Given the description of an element on the screen output the (x, y) to click on. 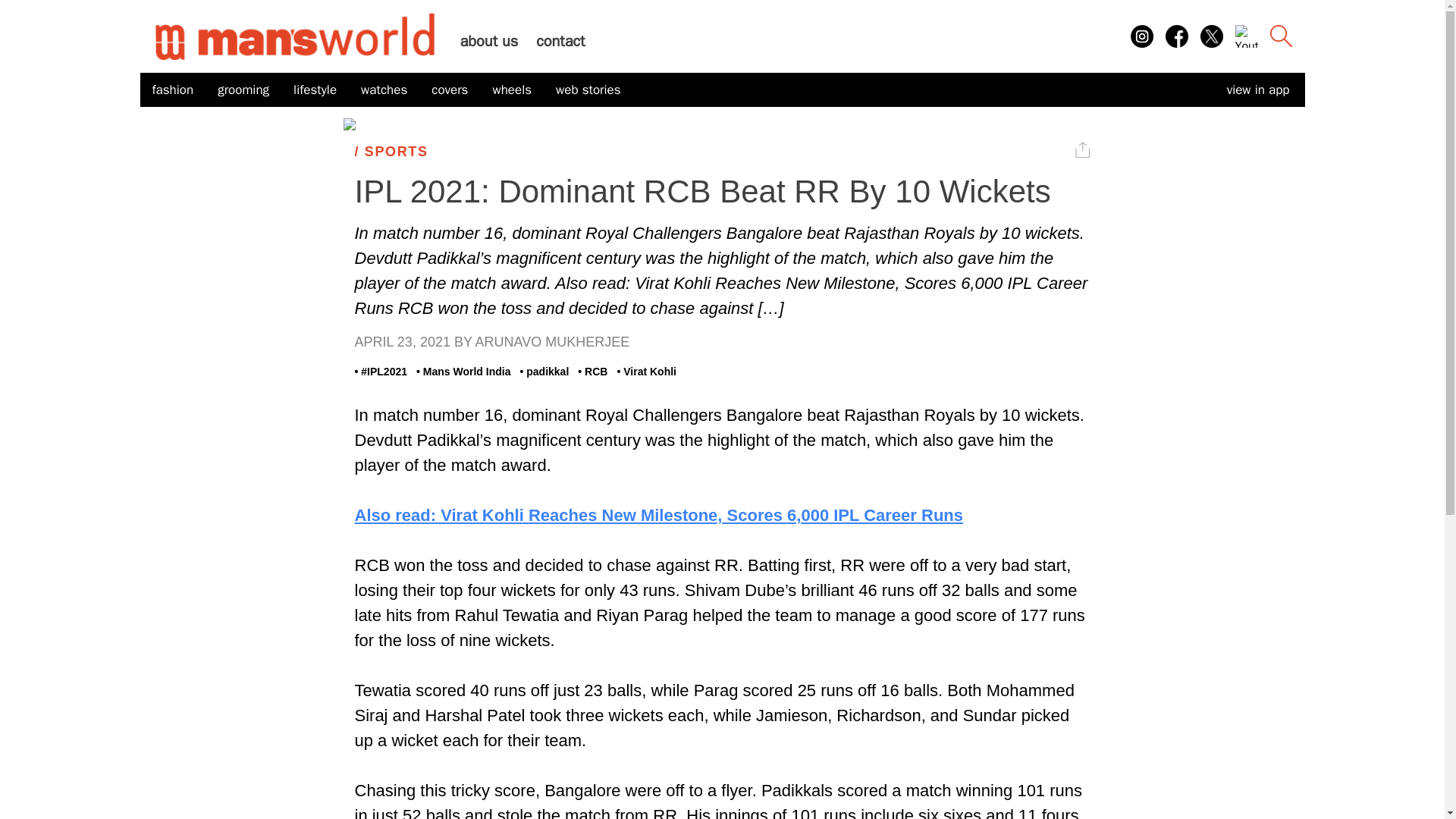
lifestyle (315, 90)
wheels (511, 90)
grooming (243, 90)
about us (489, 41)
APRIL 23, 2021 BY ARUNAVO MUKHERJEE (722, 342)
view in app (1257, 89)
contact (560, 41)
covers (449, 90)
fashion (172, 90)
